Given the description of an element on the screen output the (x, y) to click on. 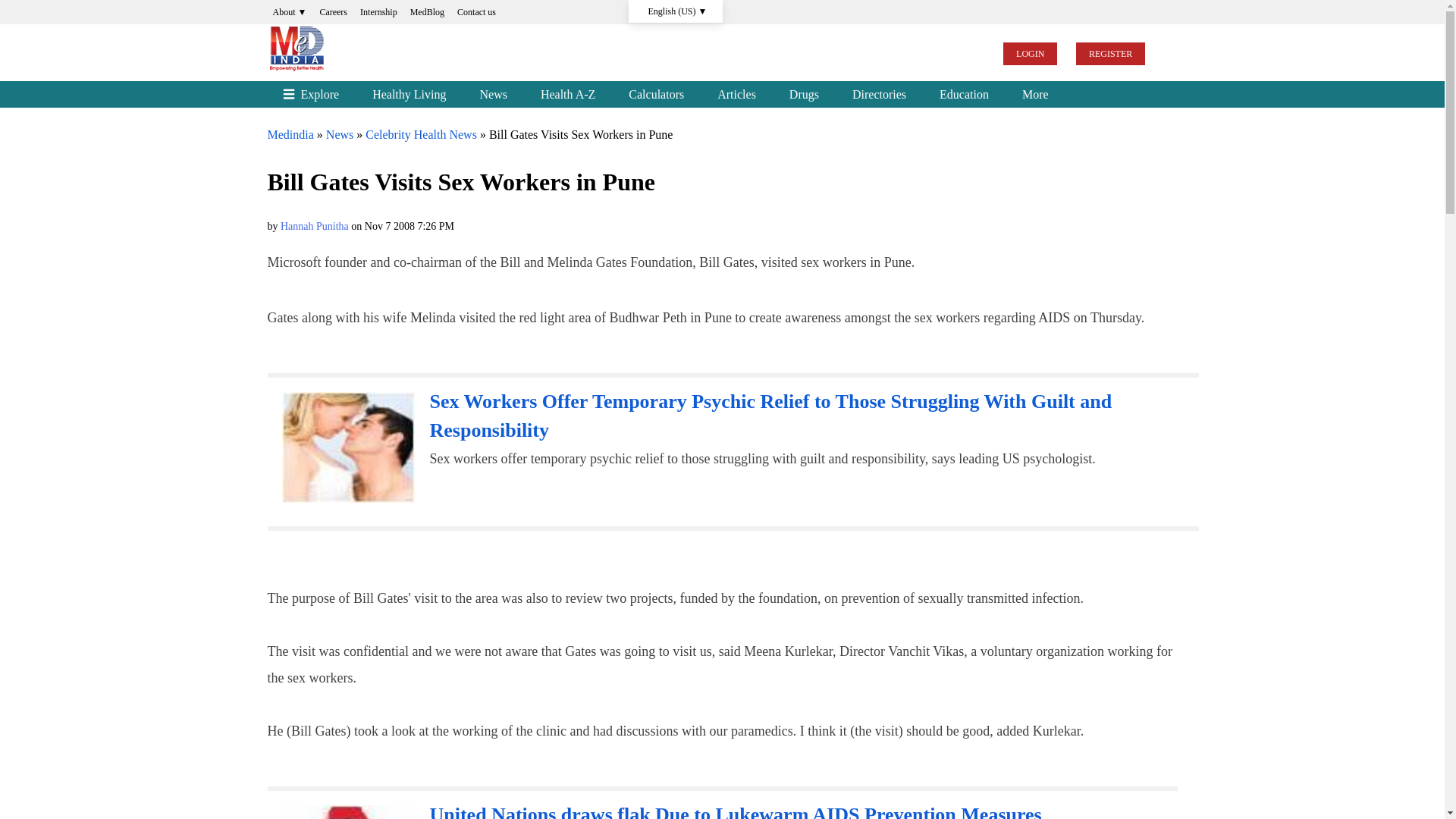
Celebrity Health News (421, 133)
Healthy Living (408, 93)
More (1035, 93)
Contact us (475, 11)
Health A-Z (567, 93)
Hannah Punitha (315, 225)
News (492, 93)
News (339, 133)
Calculators (655, 93)
MedBlog (426, 11)
Directories (879, 93)
LOGIN (1030, 53)
